Given the description of an element on the screen output the (x, y) to click on. 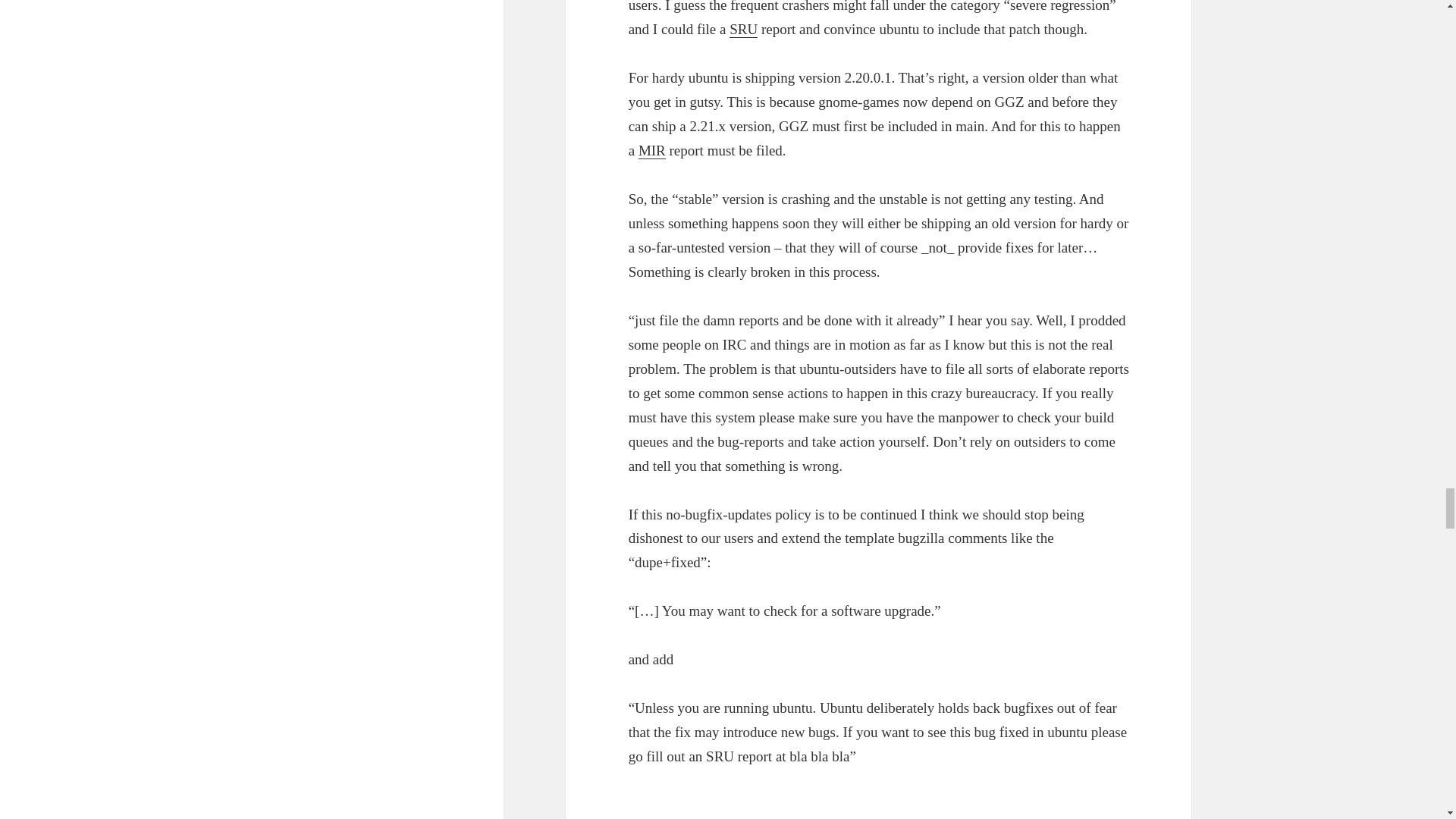
MIR (652, 150)
MIR (652, 150)
SRU (743, 29)
SRU (743, 29)
